Given the description of an element on the screen output the (x, y) to click on. 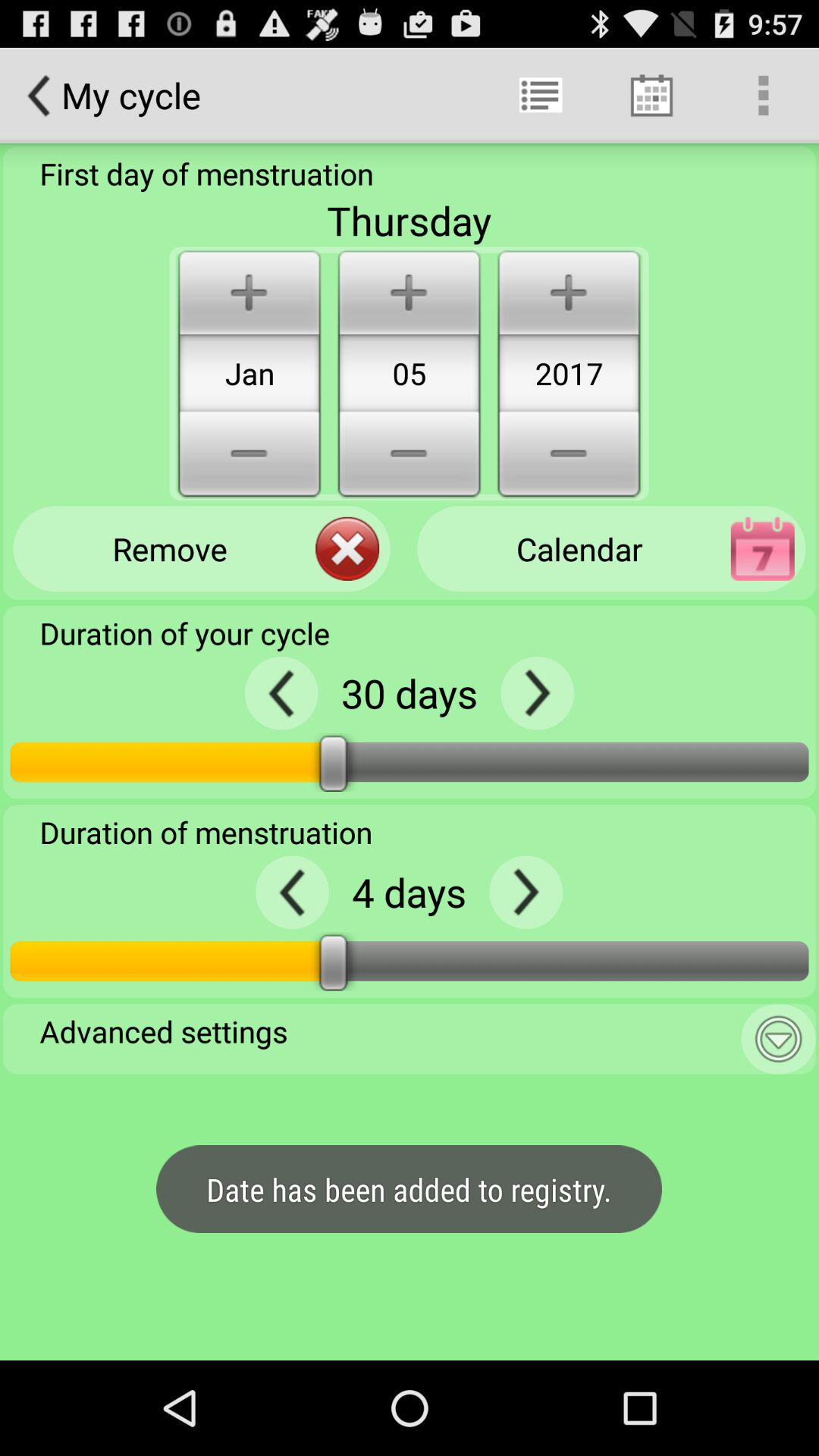
click to next arrow (525, 892)
